Given the description of an element on the screen output the (x, y) to click on. 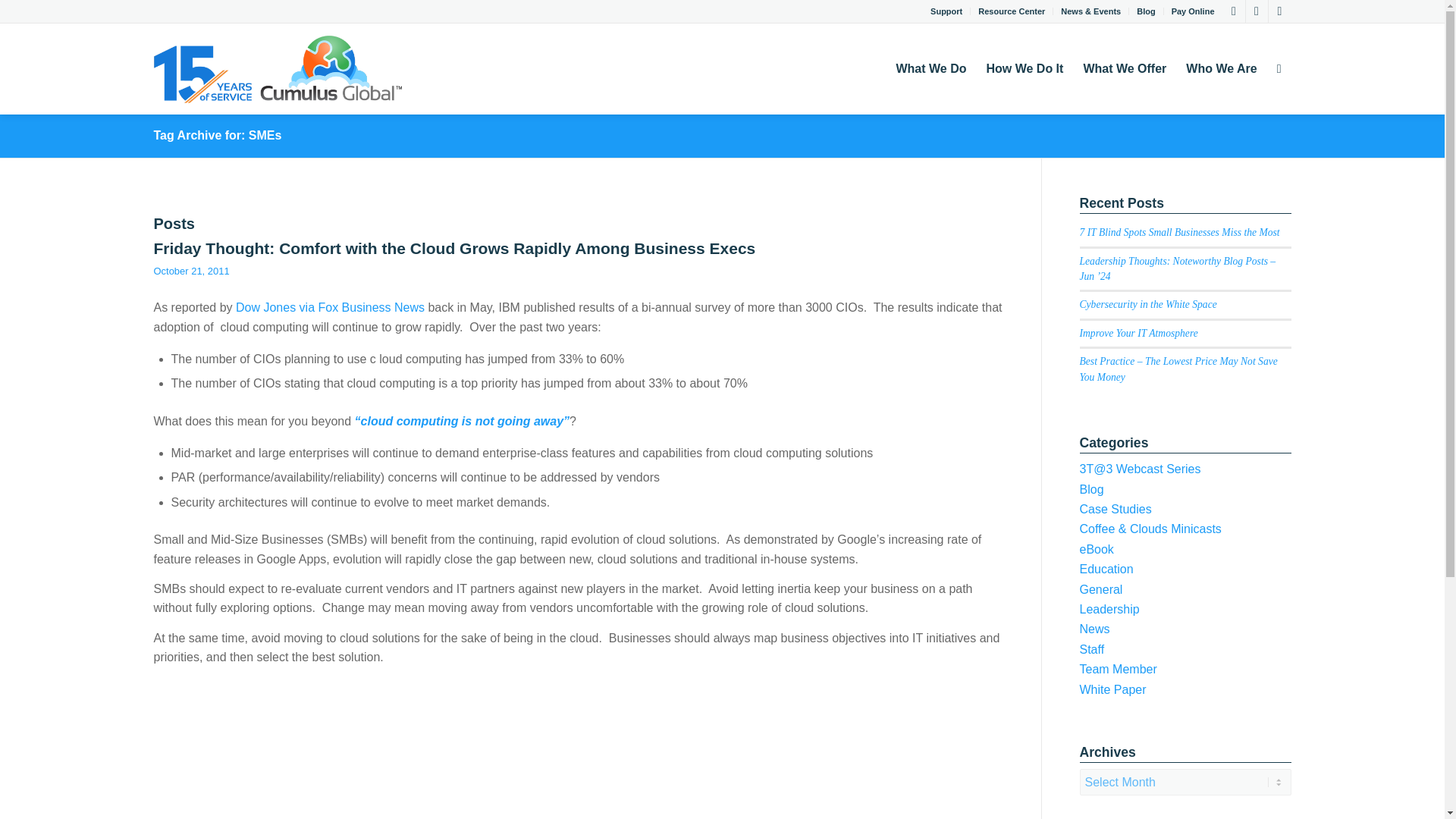
LinkedIn (1255, 11)
Pay Online (1193, 11)
Support (946, 11)
cumulus-15-years (276, 68)
What We Offer (1124, 68)
How We Do It (1024, 68)
Resource Center (1011, 11)
Blog (1145, 11)
Instagram (1233, 11)
What We Do (930, 68)
Facebook (1279, 11)
Who We Are (1221, 68)
Permanent Link: Tag Archive for: SMEs (216, 134)
